Given the description of an element on the screen output the (x, y) to click on. 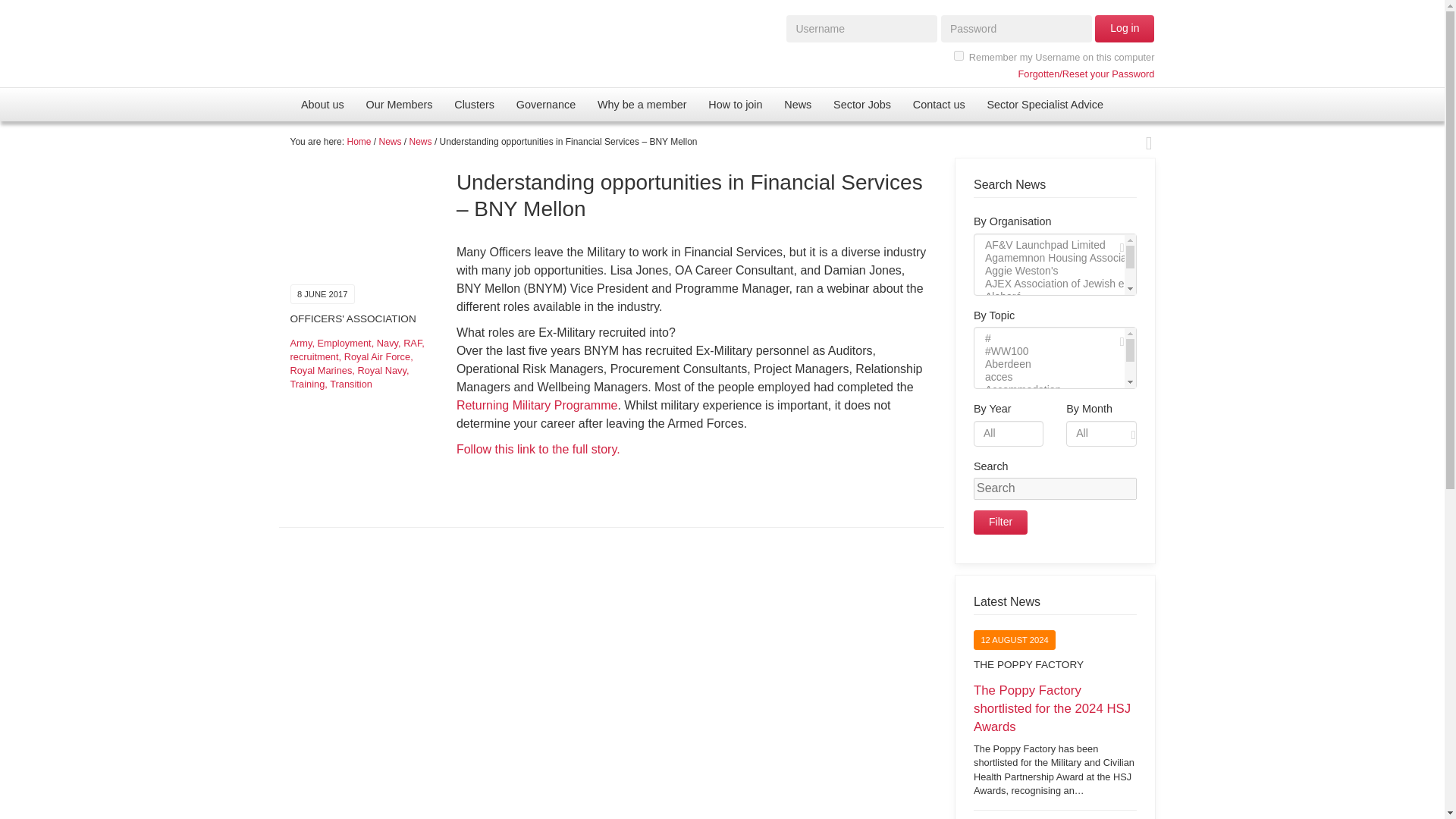
Contact us (938, 104)
Look The Poppy Factory shortlisted for the 2024 HSJ Awards (1055, 739)
How to join (735, 104)
forever (958, 55)
Why be a member (641, 104)
Log in (1124, 28)
Our Members (399, 104)
Sector Specialist Advice (1044, 104)
News (797, 104)
Governance (545, 104)
